Given the description of an element on the screen output the (x, y) to click on. 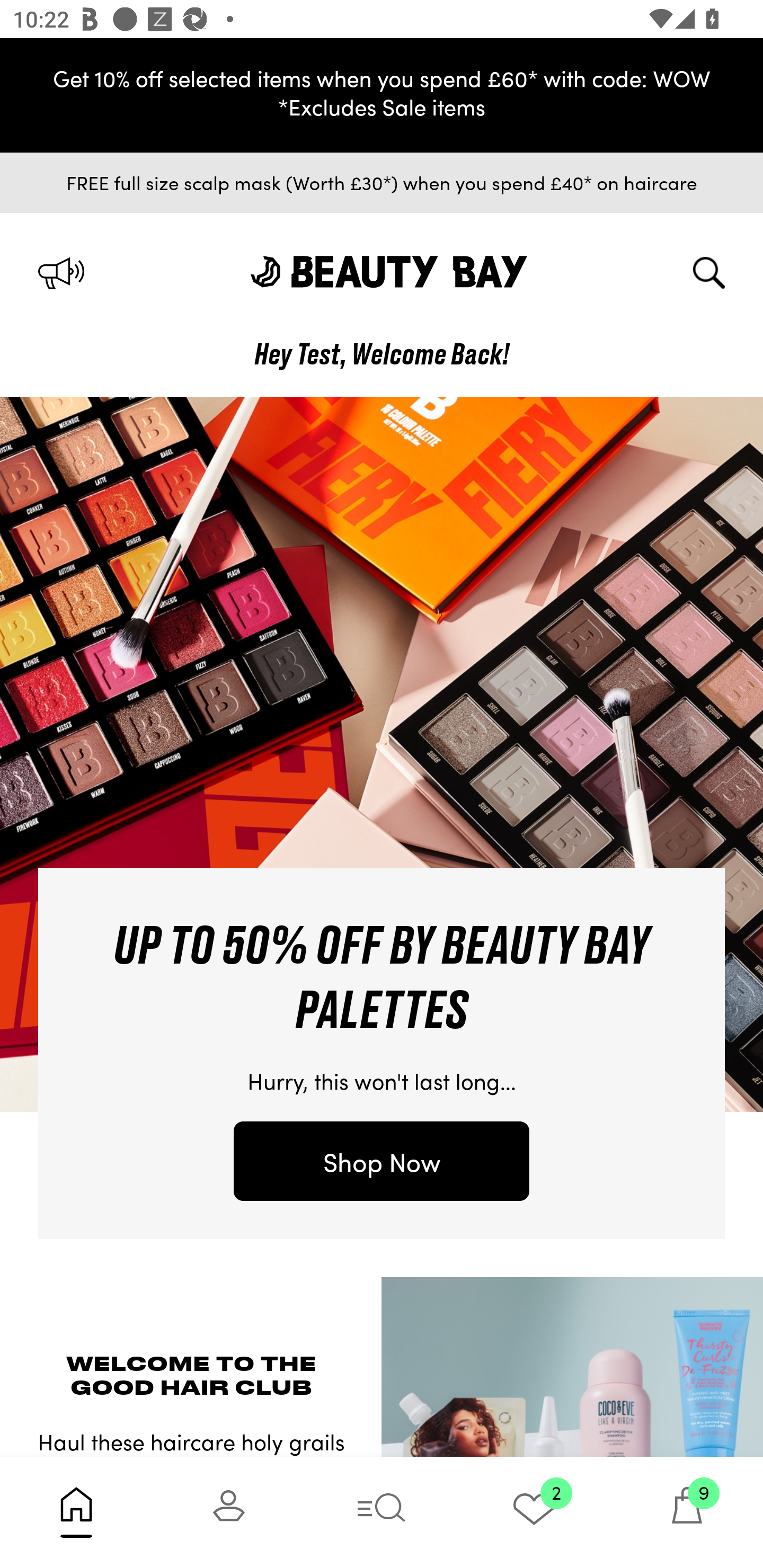
2 (533, 1512)
9 (686, 1512)
